Given the description of an element on the screen output the (x, y) to click on. 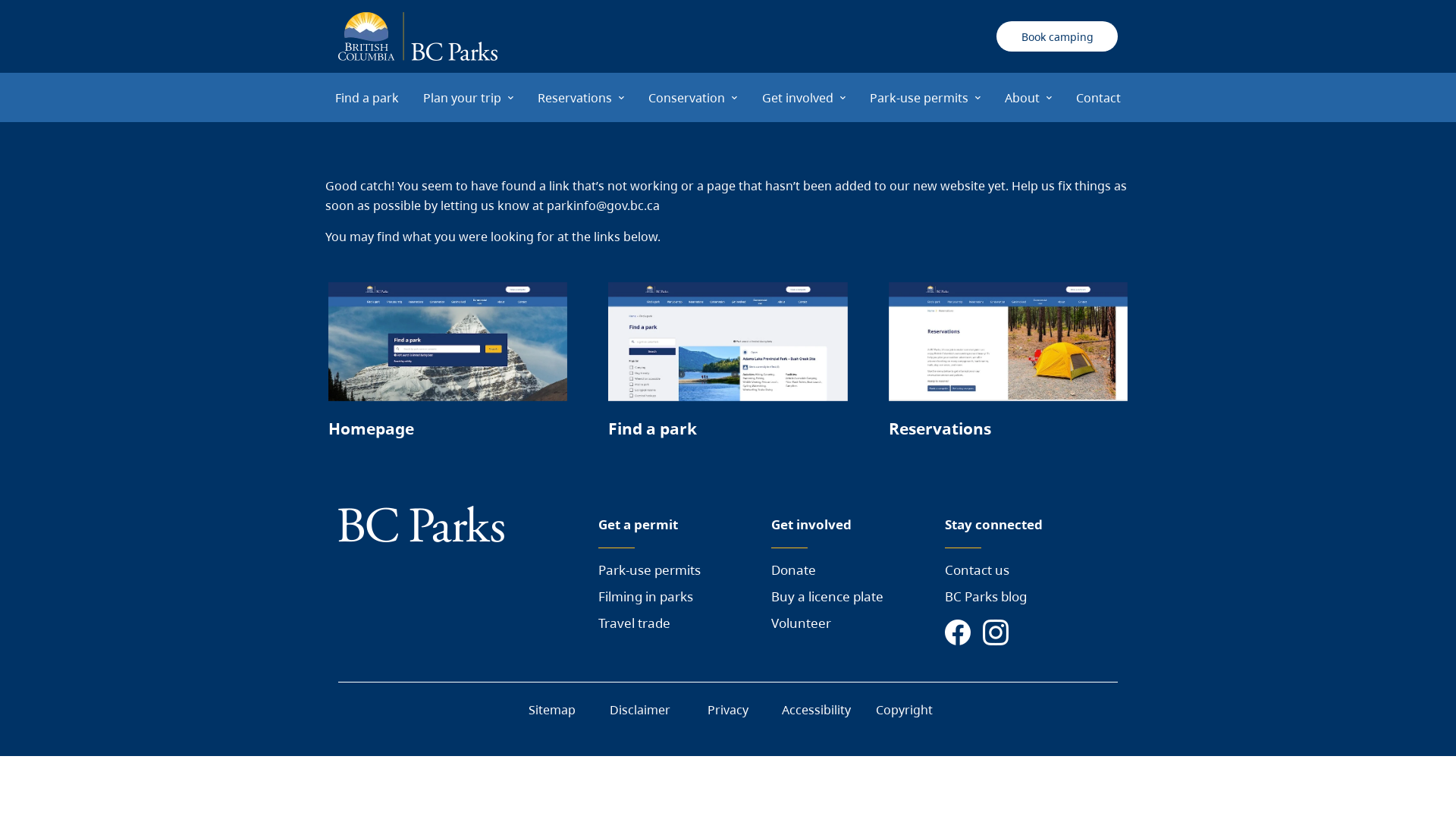
Find a park Element type: text (366, 97)
Park-use permits Element type: text (649, 569)
Filming in parks Element type: text (645, 596)
parkinfo@gov.bc.ca Element type: text (602, 205)
BC Parks blog Element type: text (985, 596)
Conservation Element type: text (692, 97)
Book camping Element type: text (1056, 36)
Buy a licence plate Element type: text (827, 596)
Plan your trip Element type: text (468, 97)
Contact Element type: text (1097, 97)
Donate Element type: text (793, 569)
Sitemap Element type: text (551, 709)
Find a park Element type: text (727, 367)
Travel trade Element type: text (634, 622)
Contact us Element type: text (976, 569)
Disclaimer Element type: text (639, 709)
Get involved Element type: text (803, 97)
Reservations Element type: text (580, 97)
Copyright Element type: text (903, 709)
Park-use permits Element type: text (924, 97)
About Element type: text (1027, 97)
Volunteer Element type: text (801, 622)
Reservations Element type: text (1007, 367)
Homepage Element type: text (447, 367)
Accessibility Element type: text (815, 709)
Privacy Element type: text (727, 709)
